Given the description of an element on the screen output the (x, y) to click on. 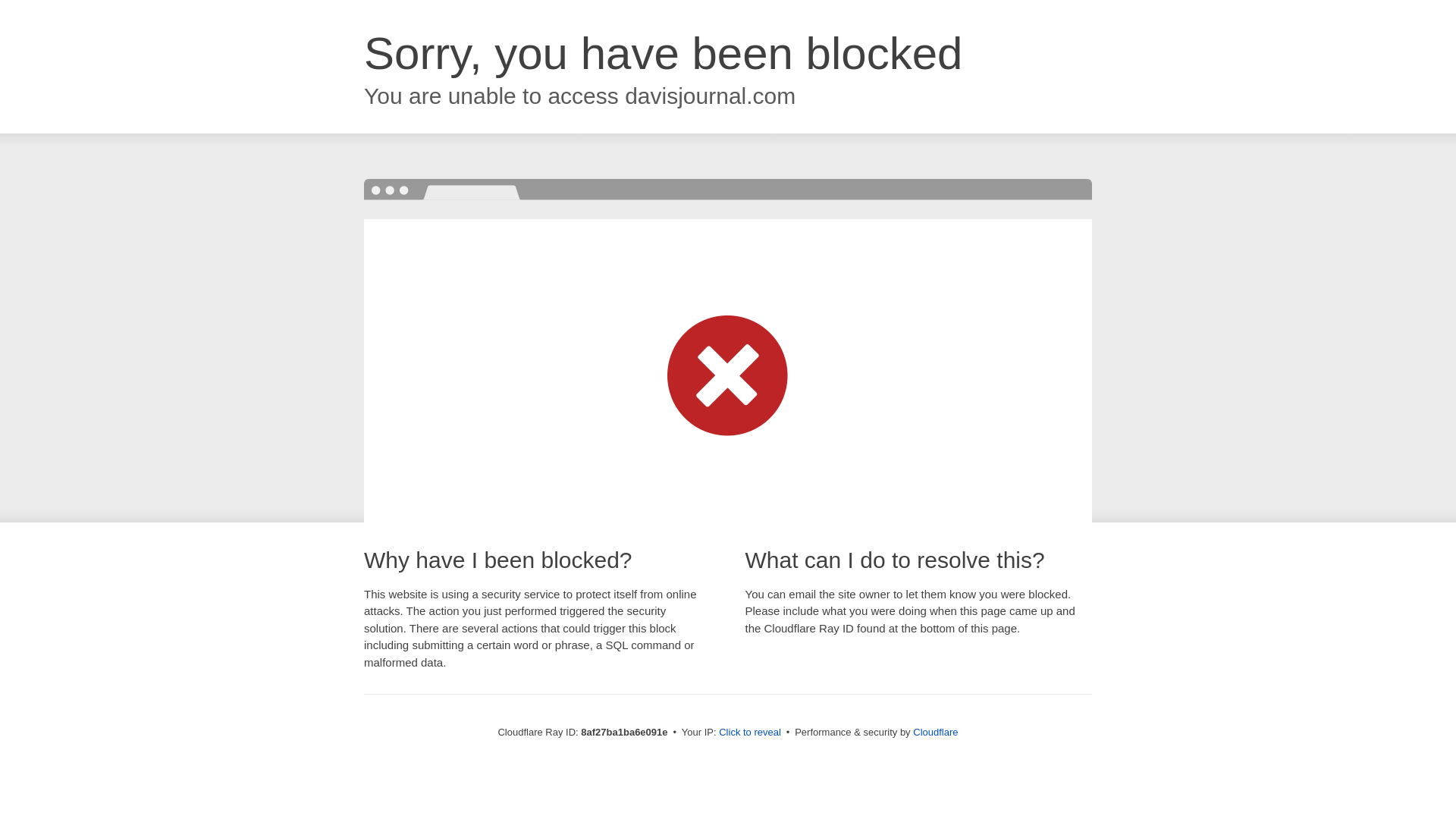
Cloudflare (935, 731)
Click to reveal (749, 732)
